Given the description of an element on the screen output the (x, y) to click on. 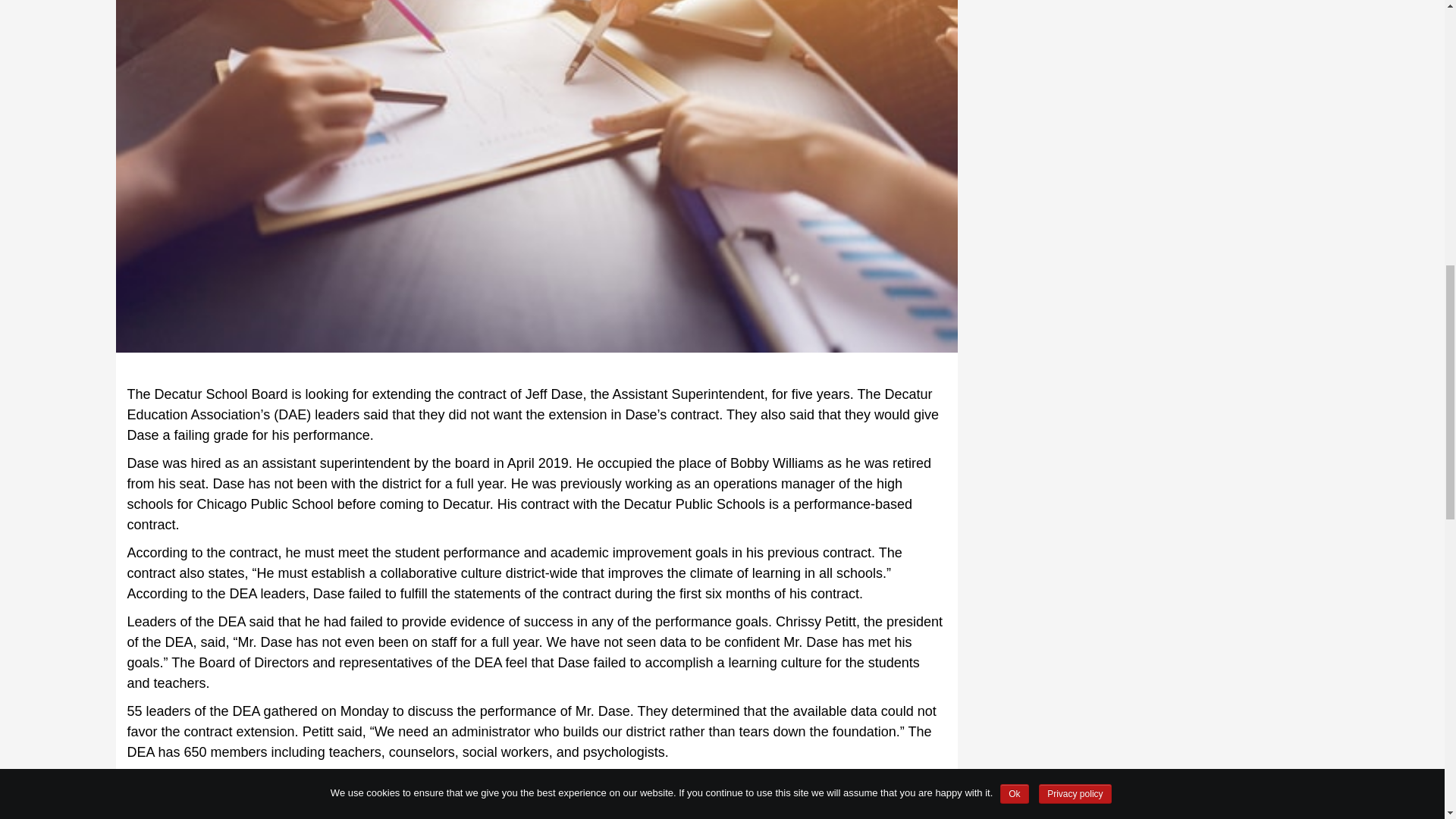
Twitter (229, 785)
Mix (170, 785)
Facebook (200, 785)
Flipboard (142, 785)
